Given the description of an element on the screen output the (x, y) to click on. 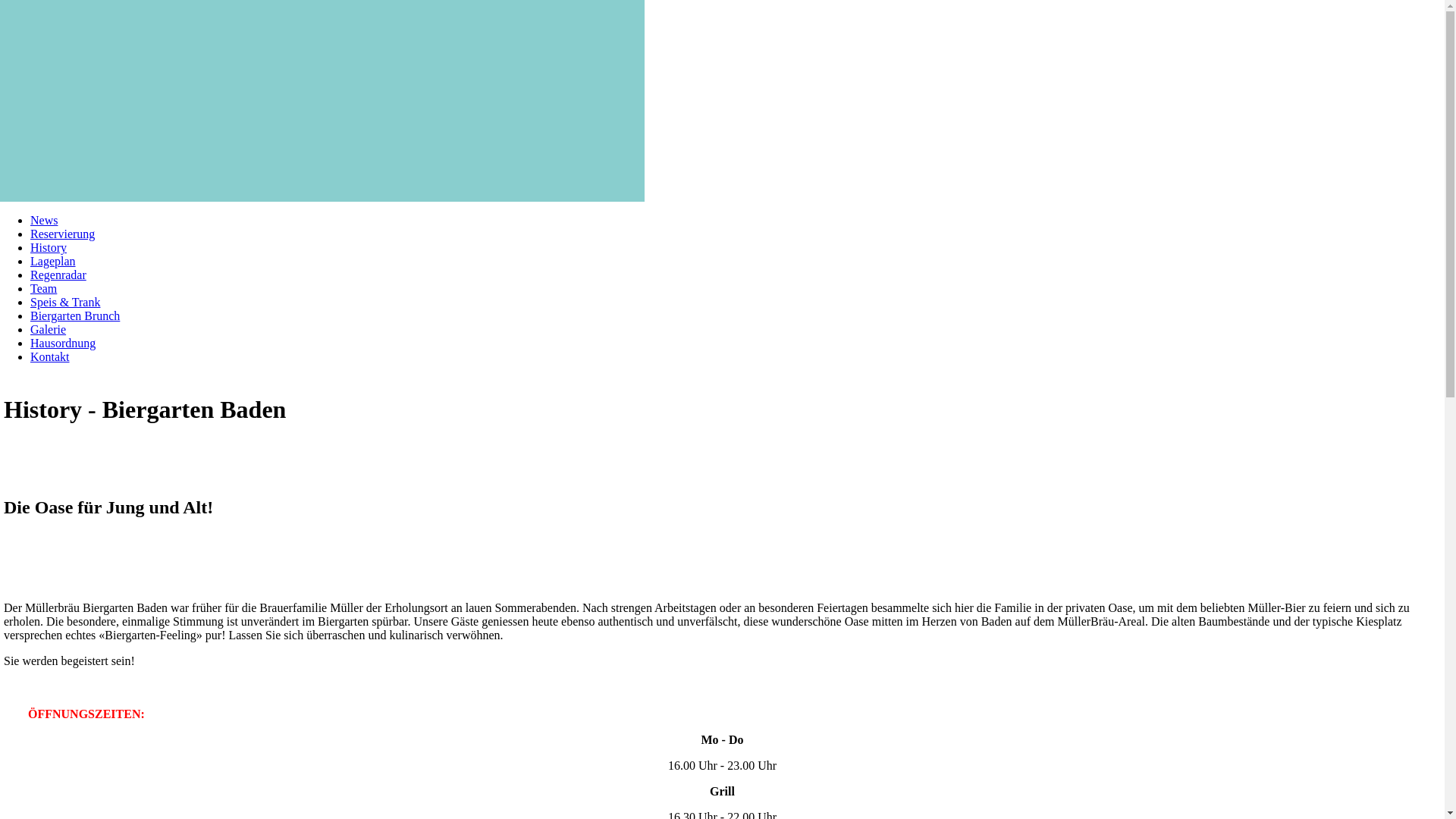
Regenradar Element type: text (58, 274)
Galerie Element type: text (47, 329)
News Element type: text (43, 219)
Speis & Trank Element type: text (65, 301)
Kontakt Element type: text (49, 356)
Reservierung Element type: text (62, 233)
History Element type: text (48, 247)
Team Element type: text (43, 288)
Biergarten Brunch Element type: text (74, 315)
Hausordnung Element type: text (62, 342)
Lageplan Element type: text (52, 260)
